Given the description of an element on the screen output the (x, y) to click on. 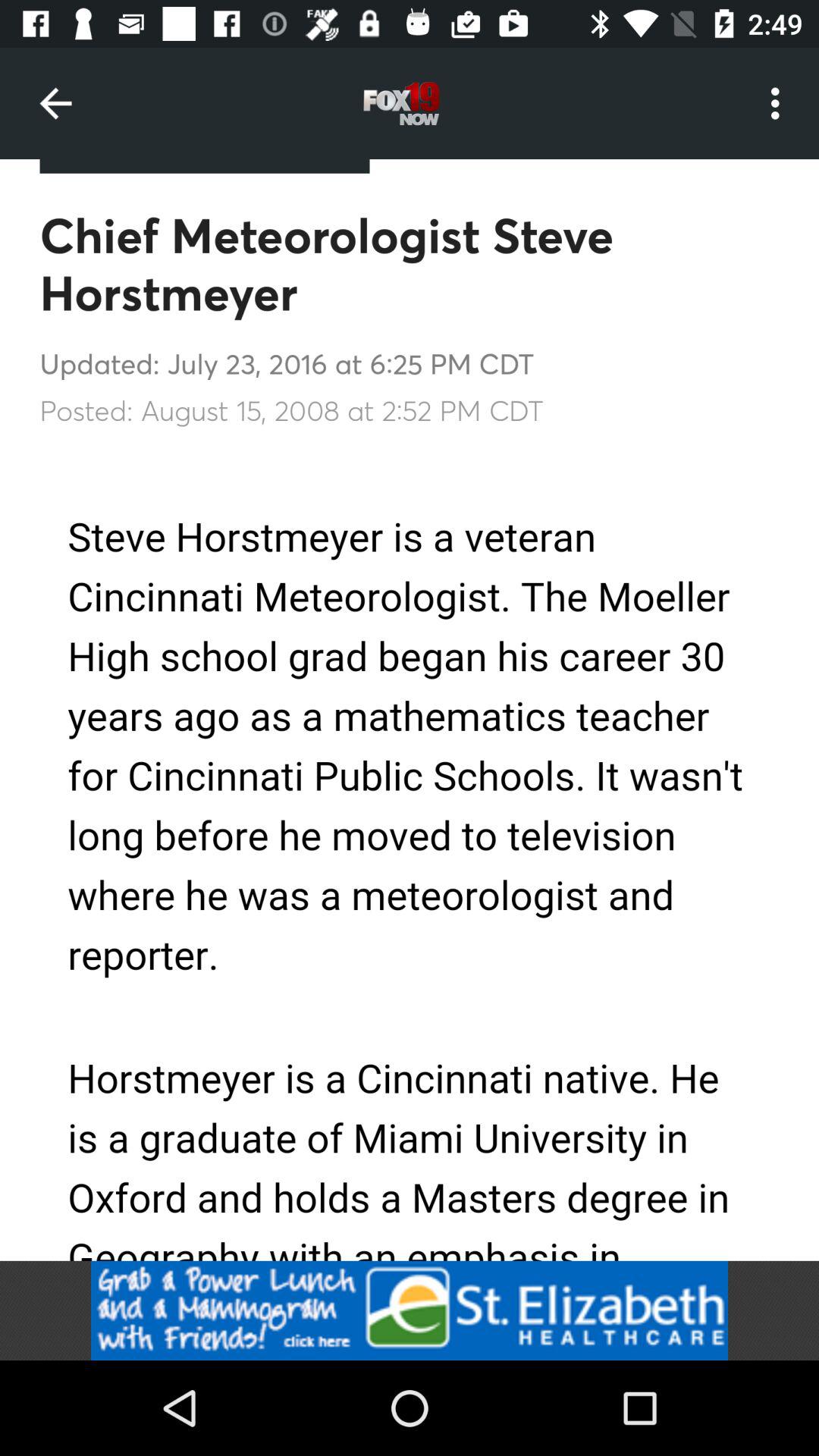
open advertisement (409, 1310)
